Given the description of an element on the screen output the (x, y) to click on. 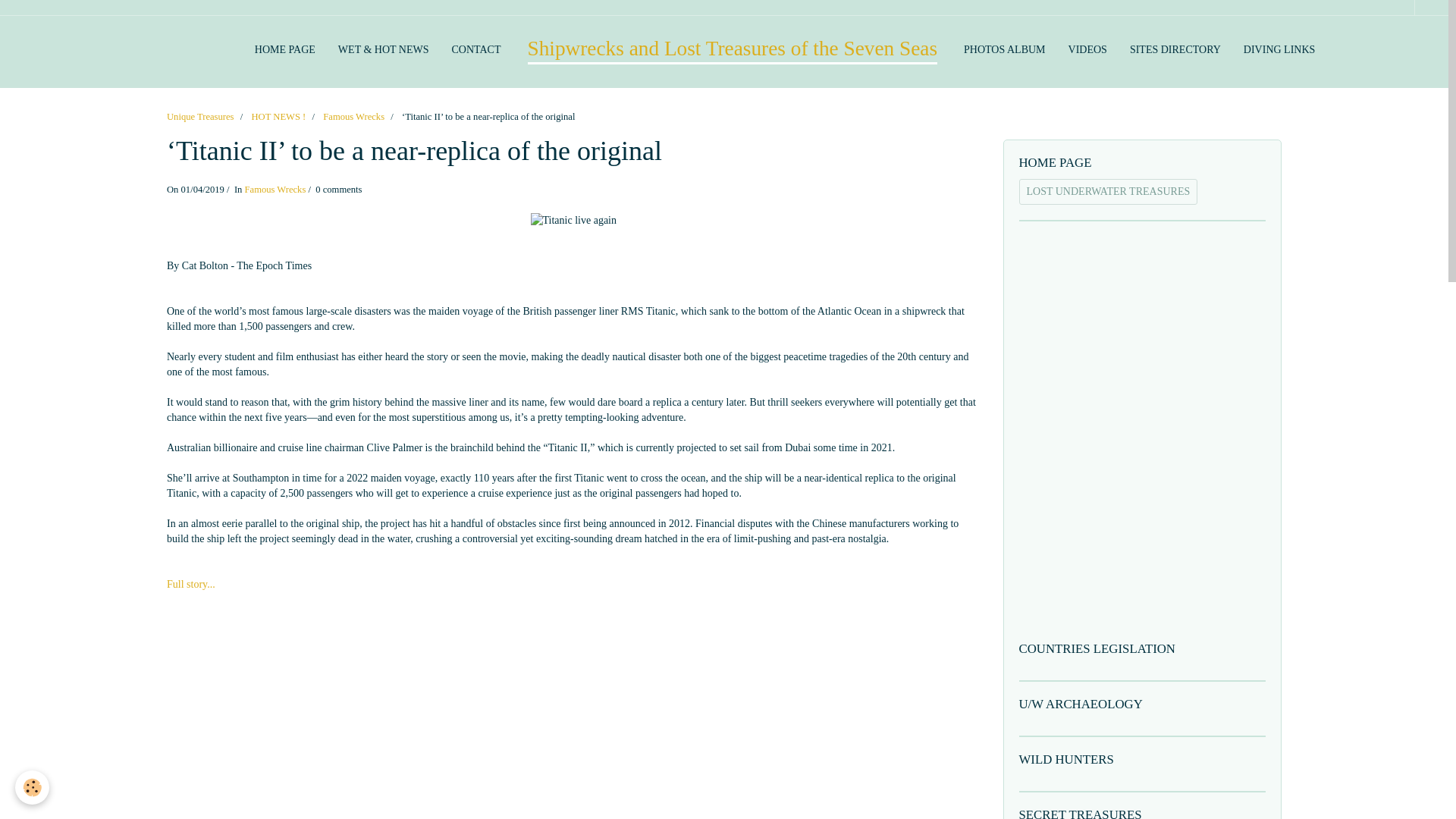
SITES DIRECTORY (1174, 49)
HOME PAGE (284, 49)
Full story... (191, 583)
Famous Wrecks (274, 189)
HOT NEWS ! (277, 116)
Unique Treasures (200, 116)
PHOTOS ALBUM (1004, 49)
Famous Wrecks (353, 116)
Shipwrecks and Lost Treasures of the Seven Seas (732, 49)
VIDEOS (1087, 49)
Advertisement (573, 728)
DIVING LINKS (1278, 49)
CONTACT (475, 49)
